Given the description of an element on the screen output the (x, y) to click on. 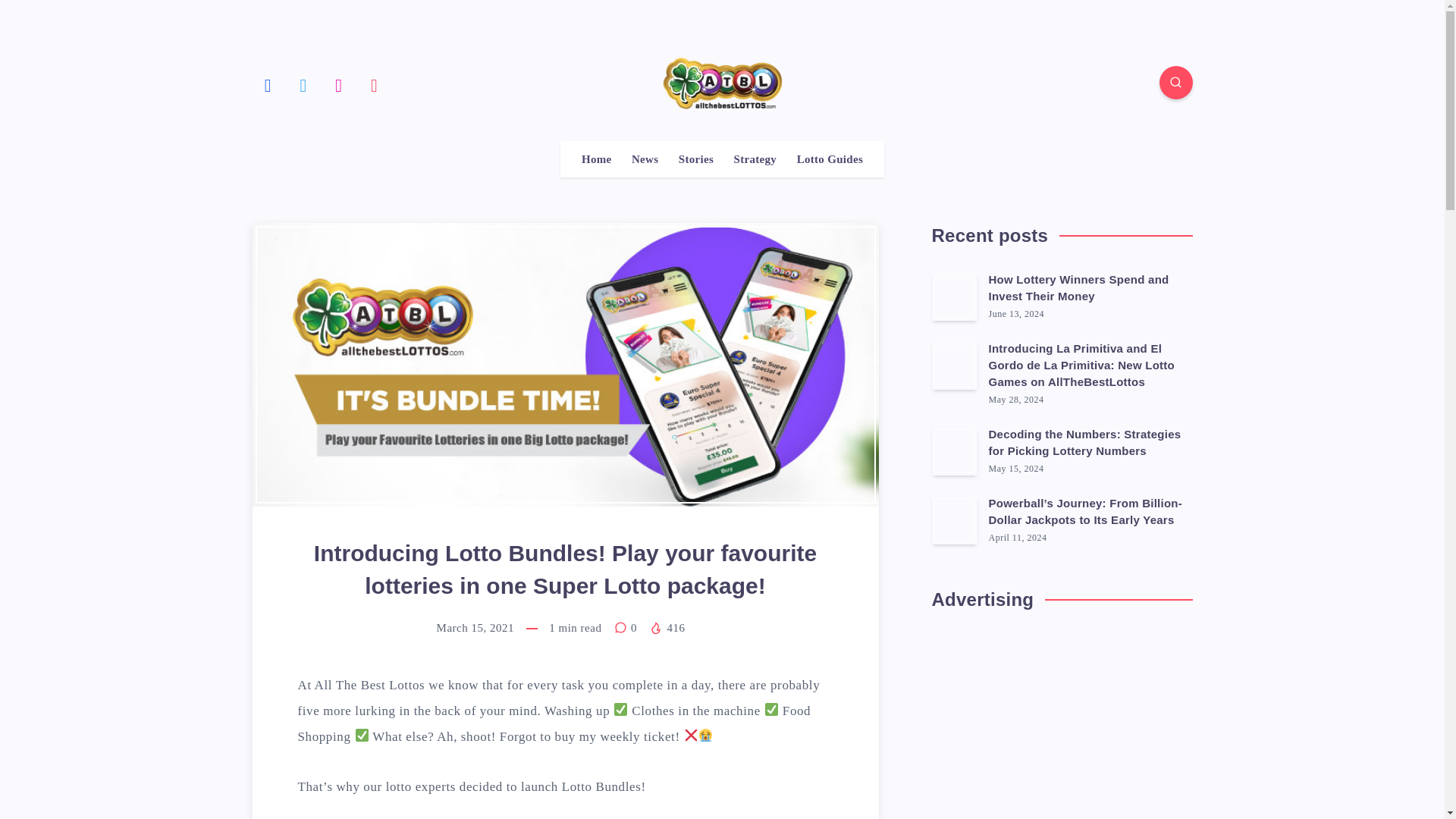
Home (595, 159)
0 Comments (627, 627)
Strategy (755, 159)
0 (627, 627)
Stories (695, 159)
News (644, 159)
416 Views (666, 627)
Lotto Guides (829, 159)
